Given the description of an element on the screen output the (x, y) to click on. 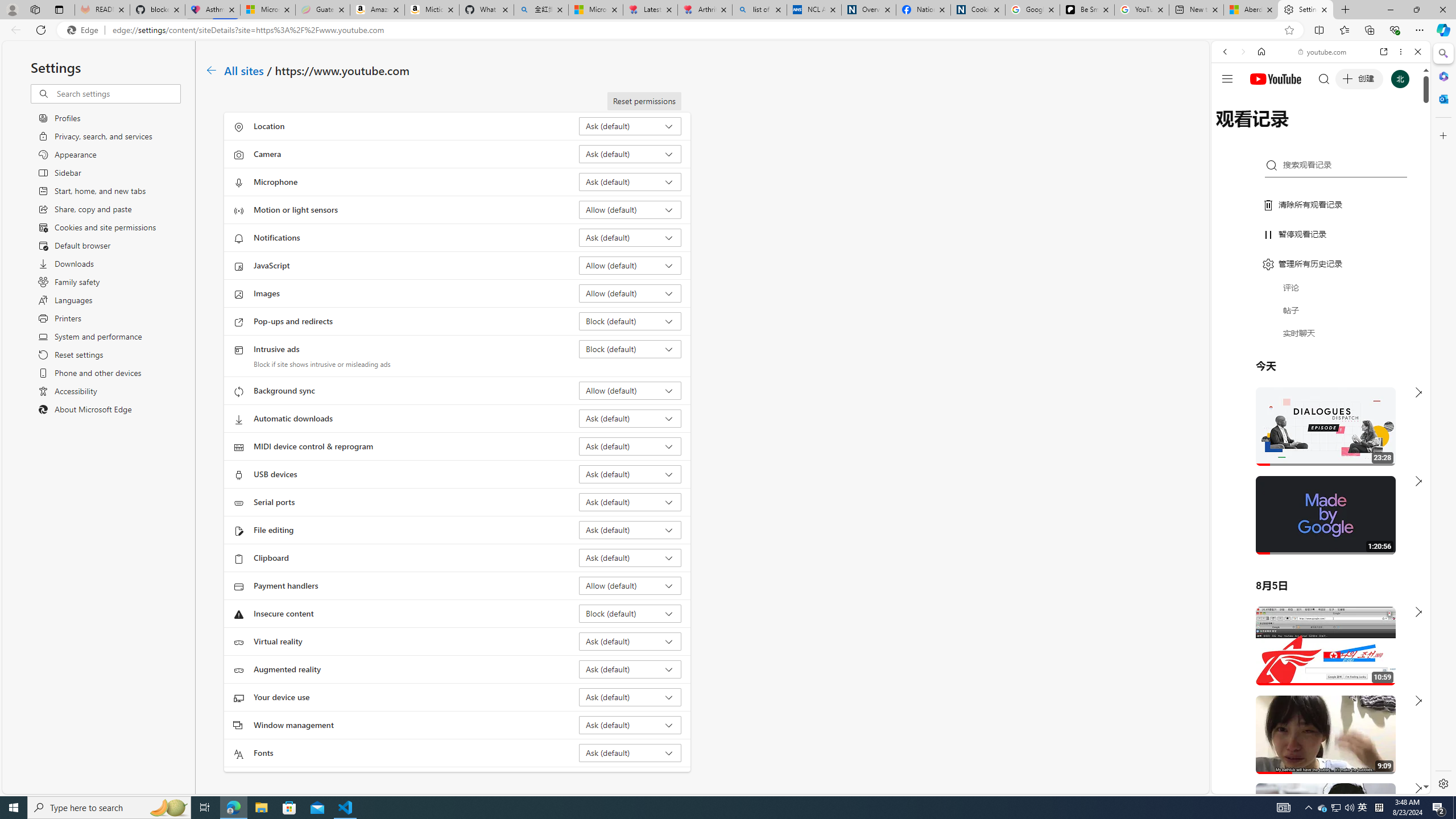
YouTube - YouTube (1315, 560)
